Given the description of an element on the screen output the (x, y) to click on. 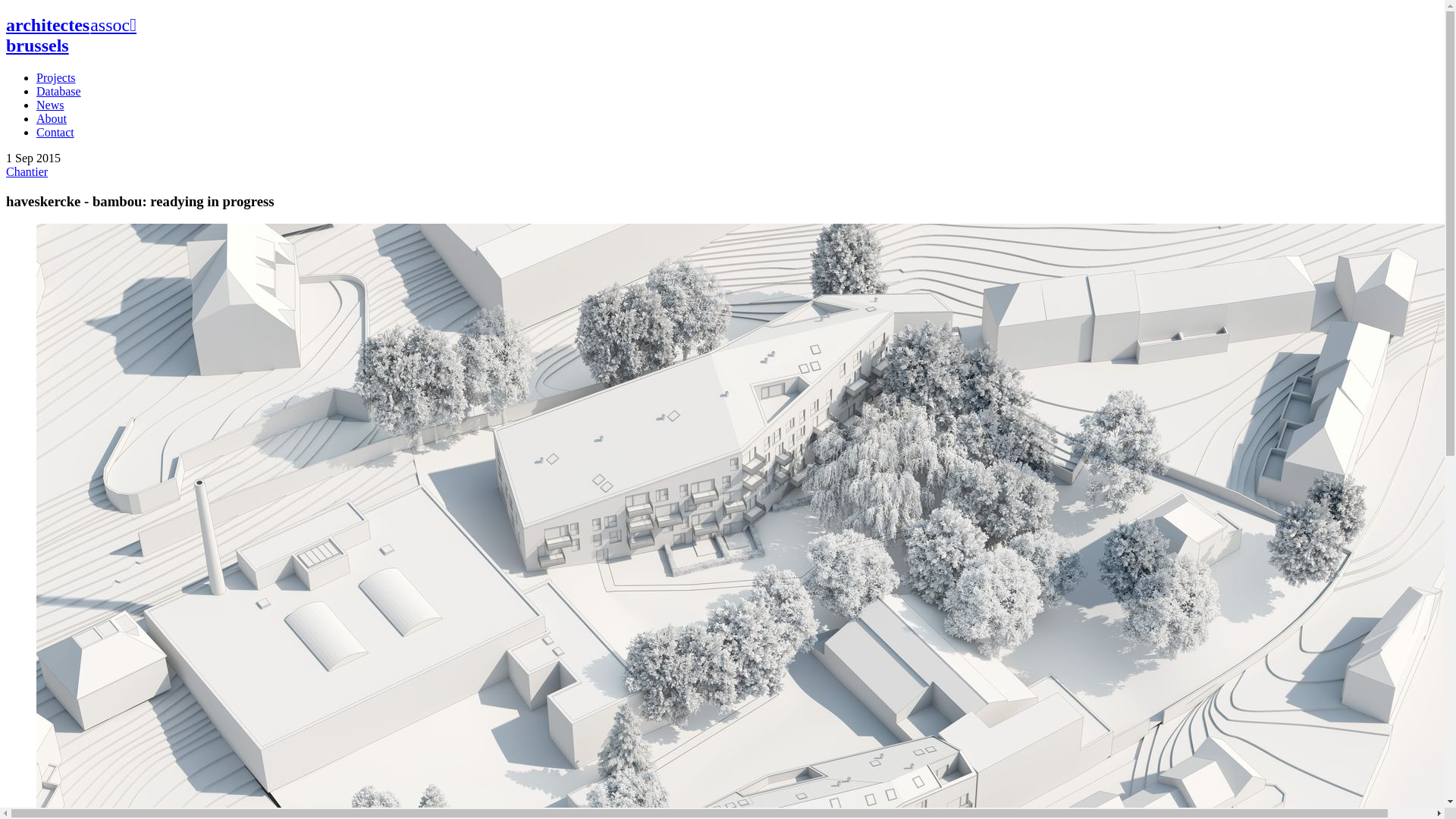
Chantier Element type: text (26, 171)
Contact Element type: text (55, 131)
Projects Element type: text (55, 77)
About Element type: text (51, 118)
News Element type: text (49, 104)
architectesassoc
brussels Element type: text (84, 35)
Database Element type: text (58, 90)
